Given the description of an element on the screen output the (x, y) to click on. 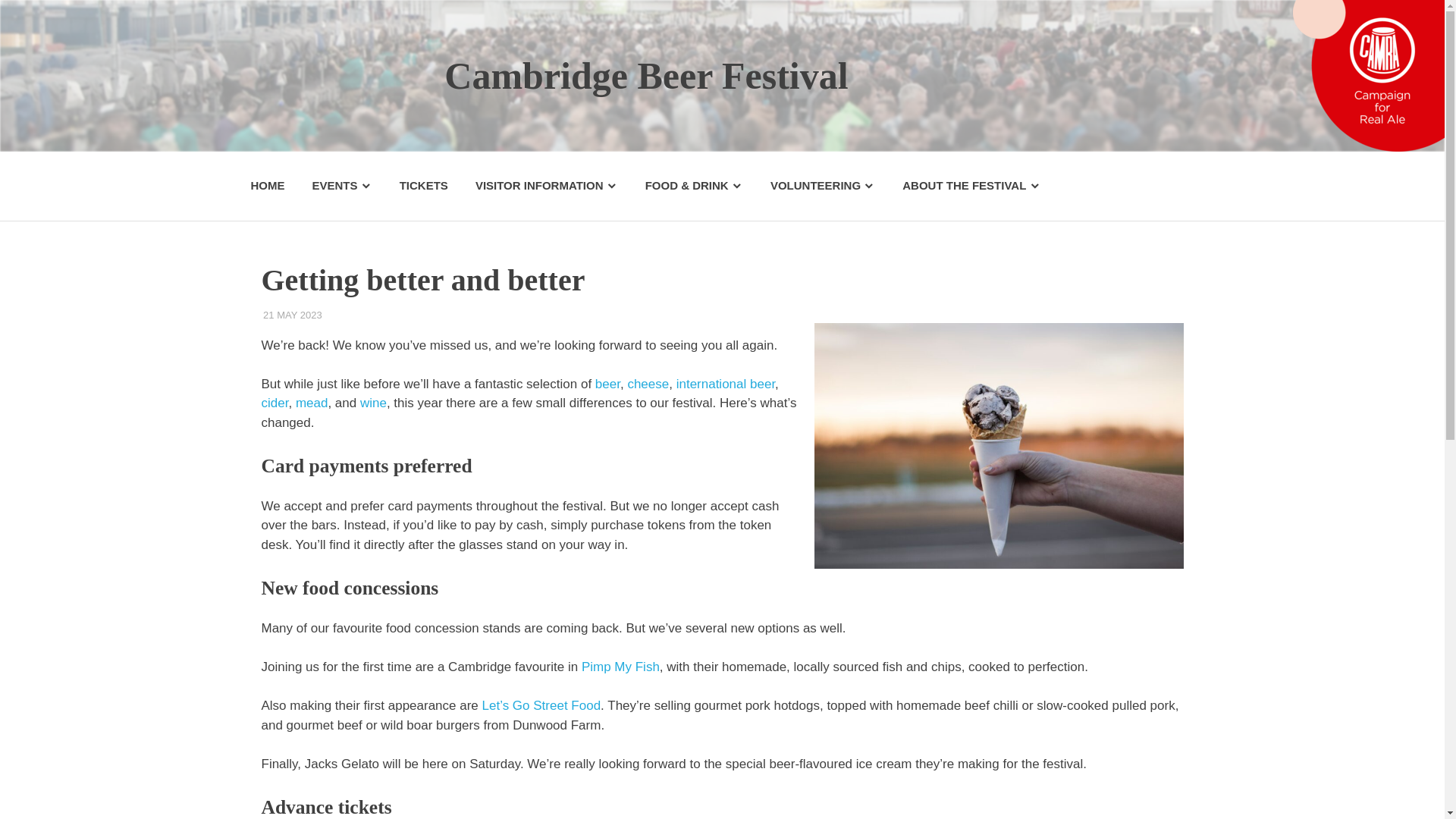
HOME (266, 185)
Cambridge Beer Festival (645, 75)
EVENTS (341, 185)
13:17 (292, 315)
VOLUNTEERING (822, 185)
TICKETS (423, 185)
VISITOR INFORMATION (546, 185)
